Given the description of an element on the screen output the (x, y) to click on. 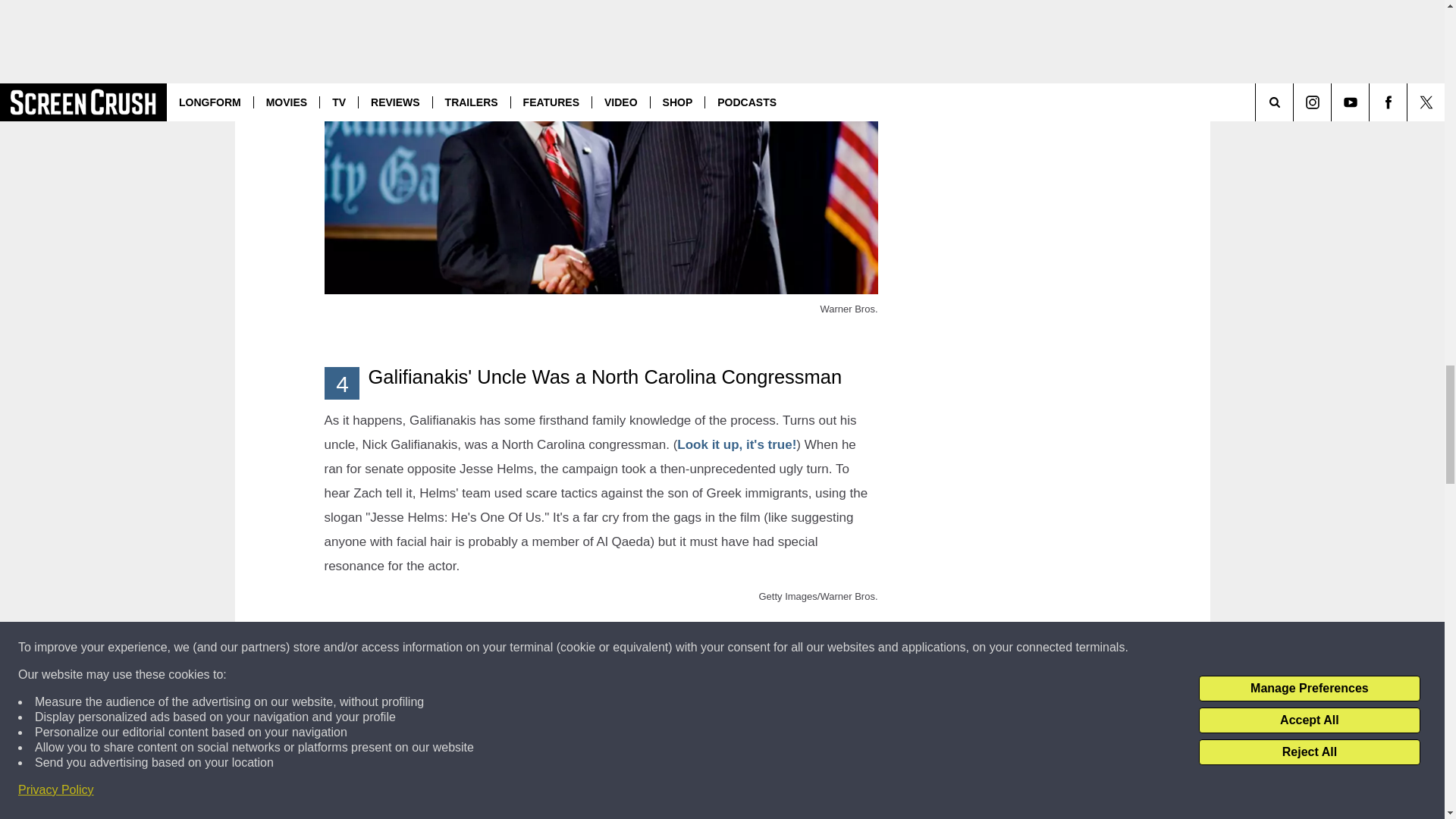
Look it up, it's true! (736, 444)
